Given the description of an element on the screen output the (x, y) to click on. 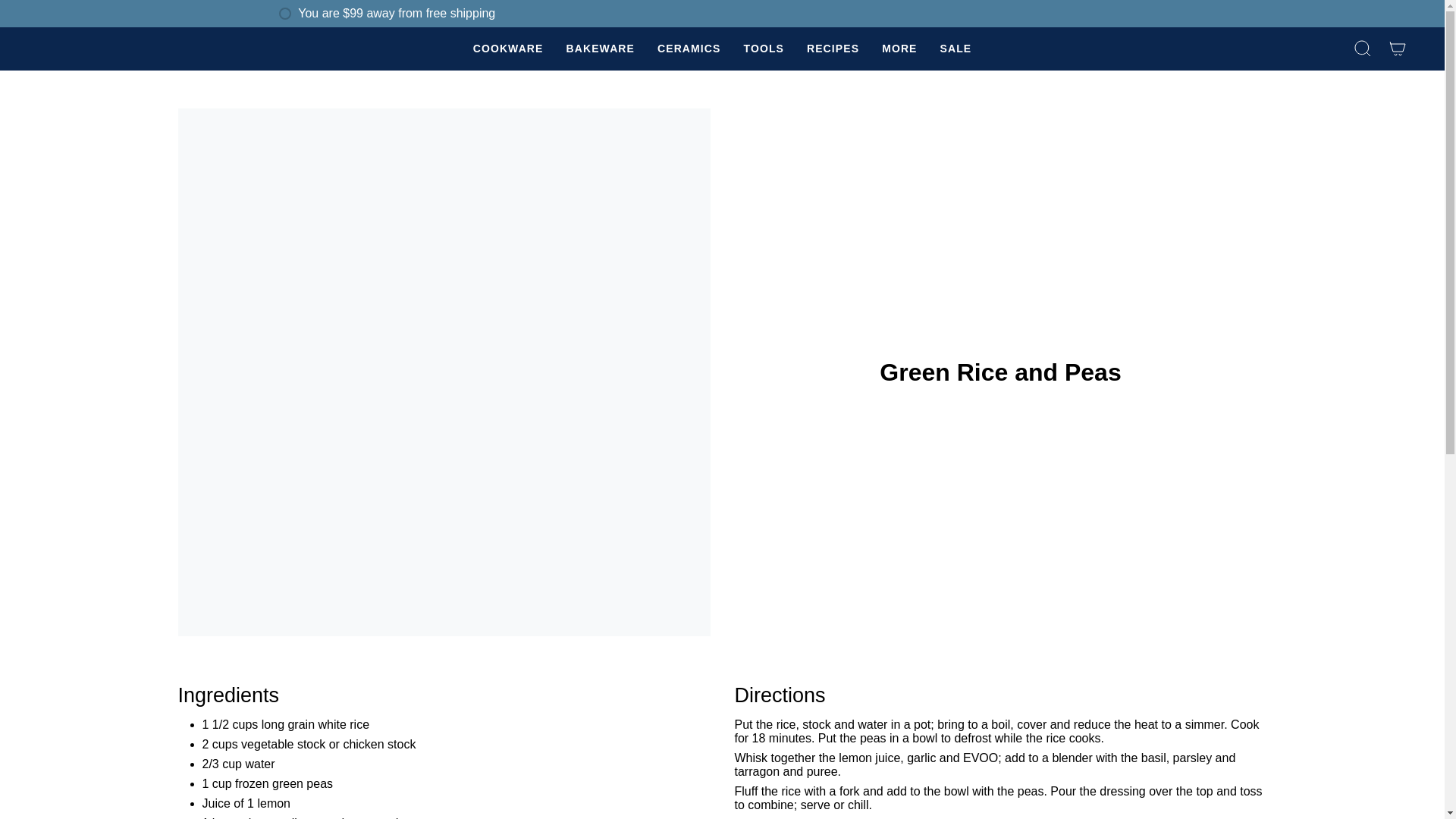
Cart (1397, 48)
Search (1362, 48)
COOKWARE (507, 48)
